Given the description of an element on the screen output the (x, y) to click on. 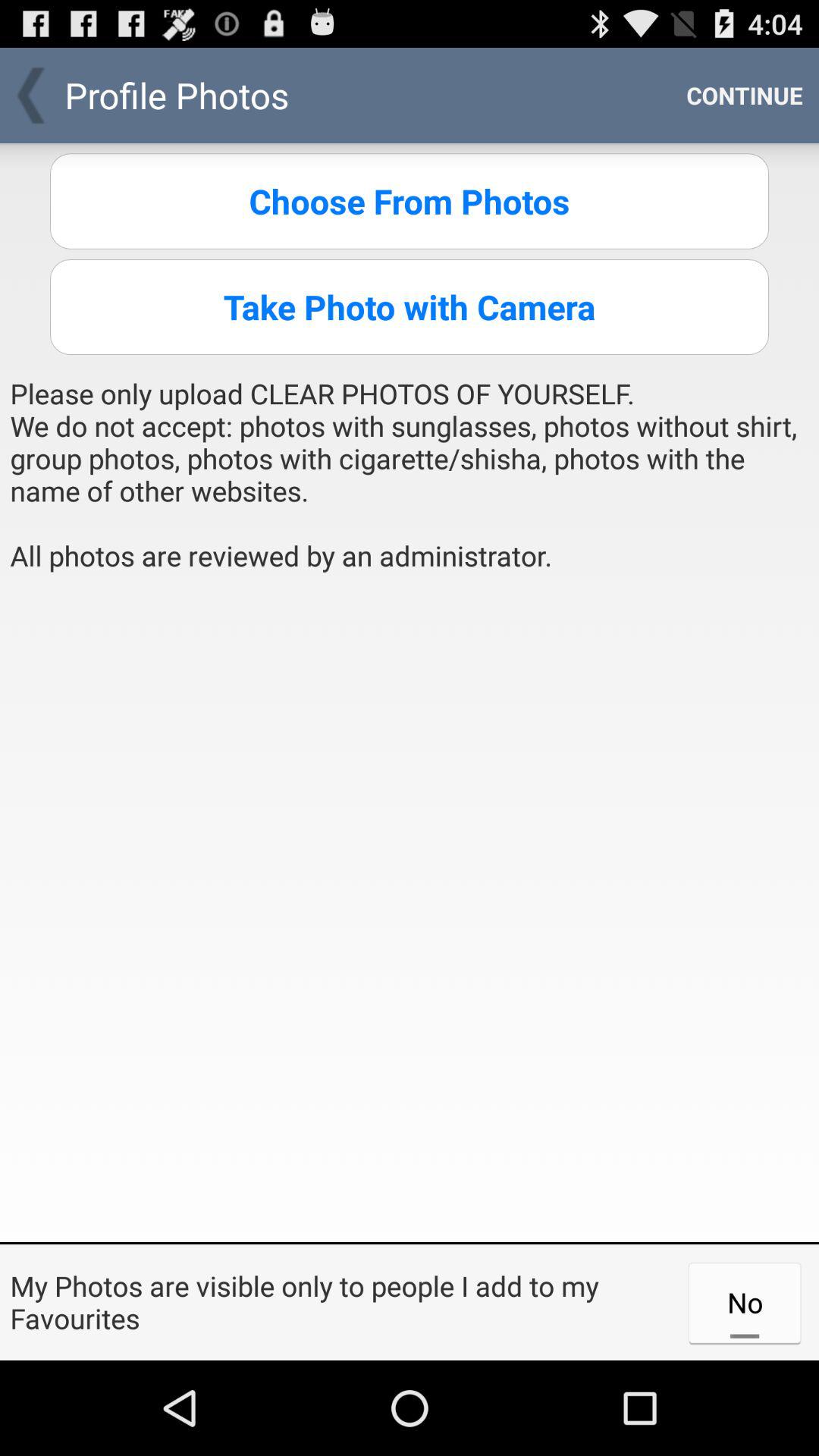
turn off the item above please only upload item (409, 306)
